Given the description of an element on the screen output the (x, y) to click on. 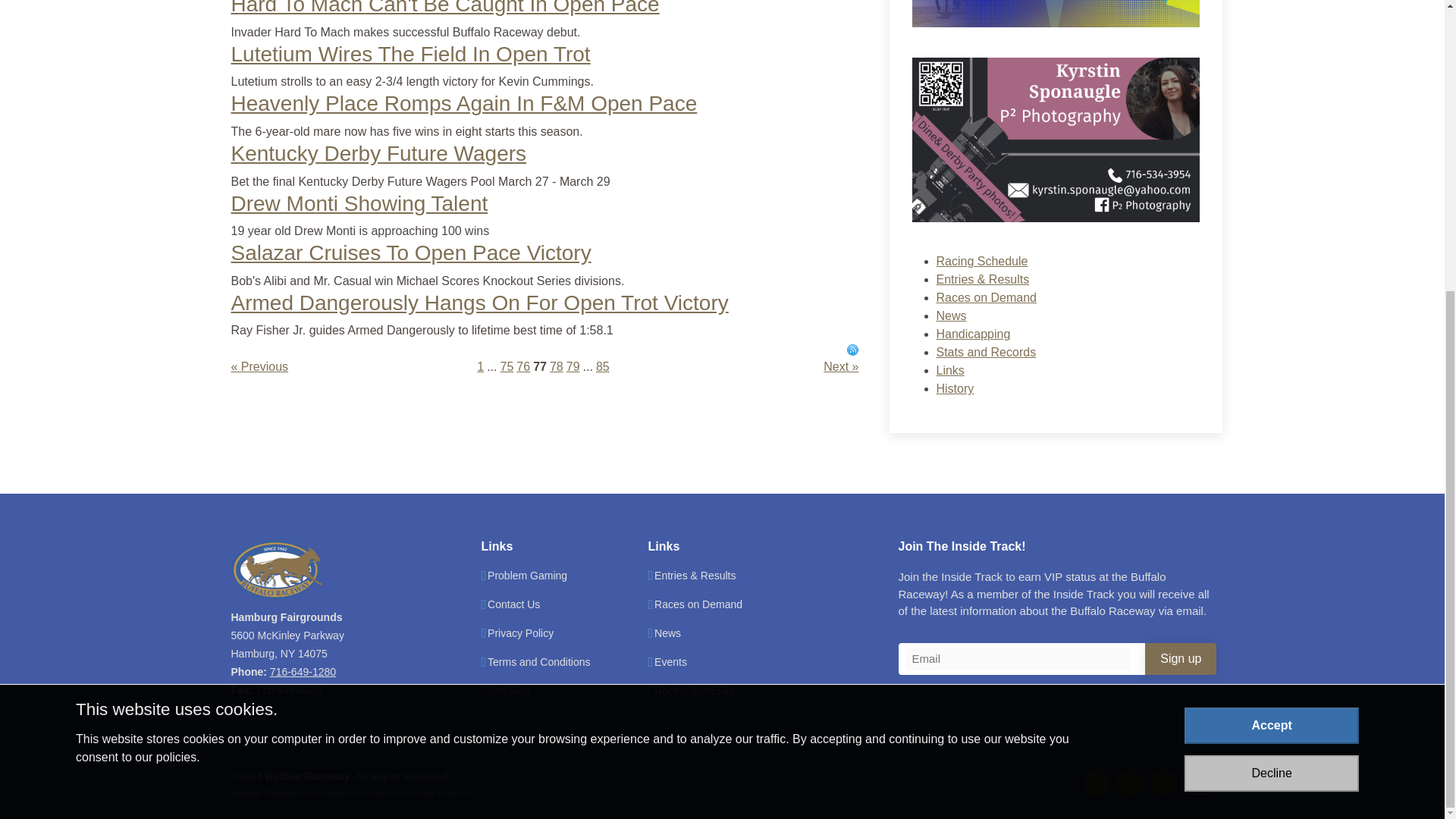
Sign up (1179, 658)
